Given the description of an element on the screen output the (x, y) to click on. 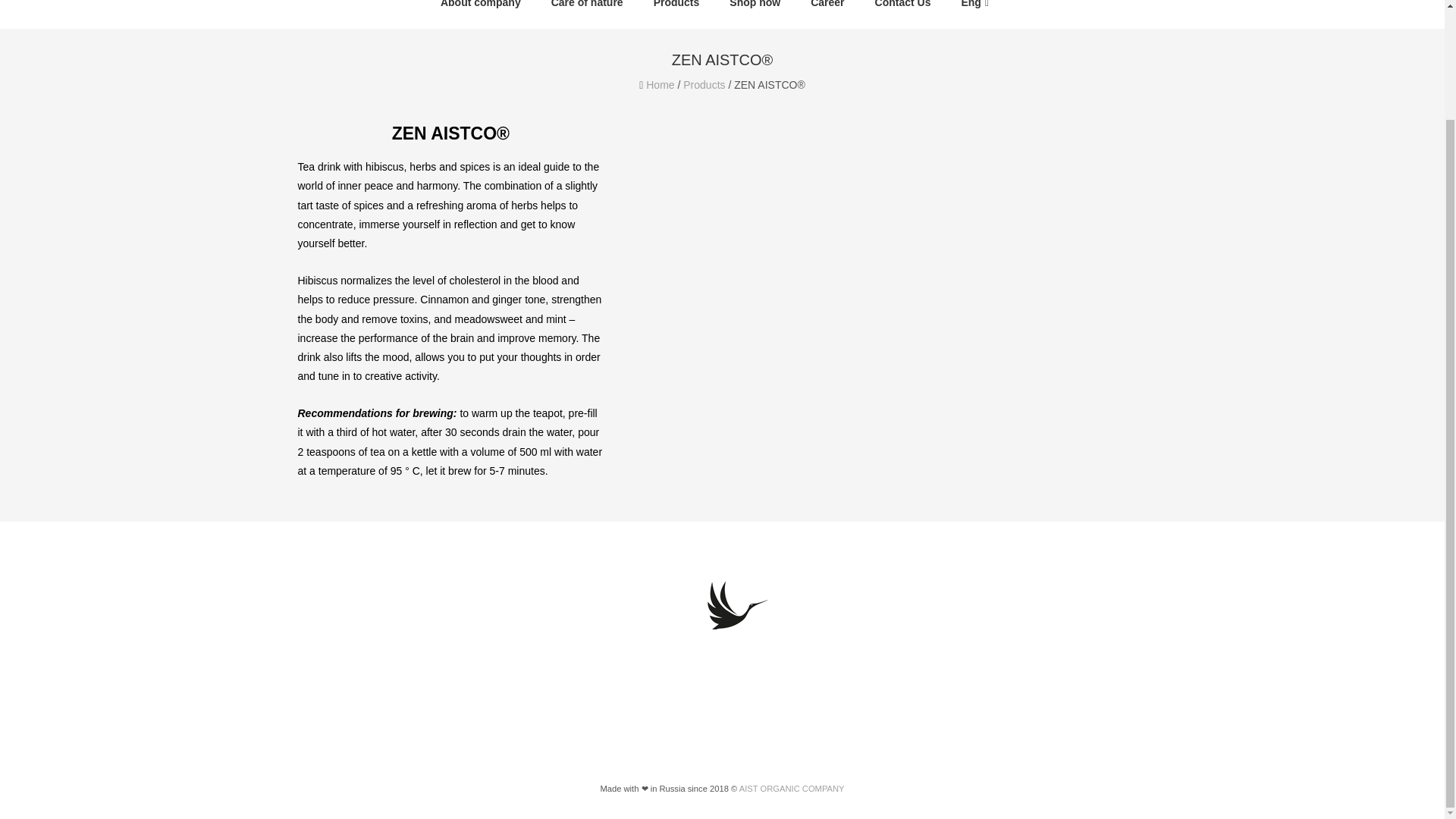
Career (827, 7)
Care of nature (587, 7)
Products (703, 84)
About company (481, 7)
Shop now (754, 7)
Contact Us (903, 7)
Products (676, 7)
Eng (974, 7)
Home (660, 84)
AIST ORGANIC COMPANY (791, 788)
